Given the description of an element on the screen output the (x, y) to click on. 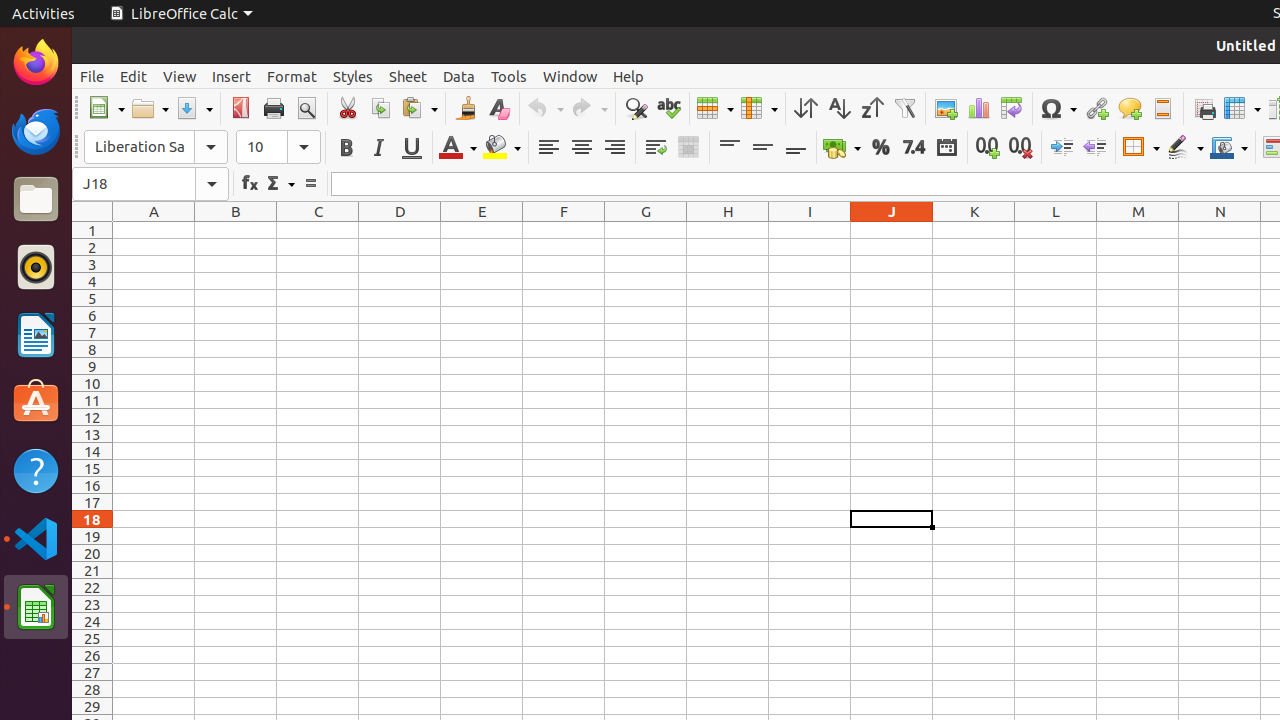
Image Element type: push-button (945, 108)
C1 Element type: table-cell (318, 230)
Apply Style Element type: text (73, 129)
Name Box Element type: combo-box (150, 184)
